Given the description of an element on the screen output the (x, y) to click on. 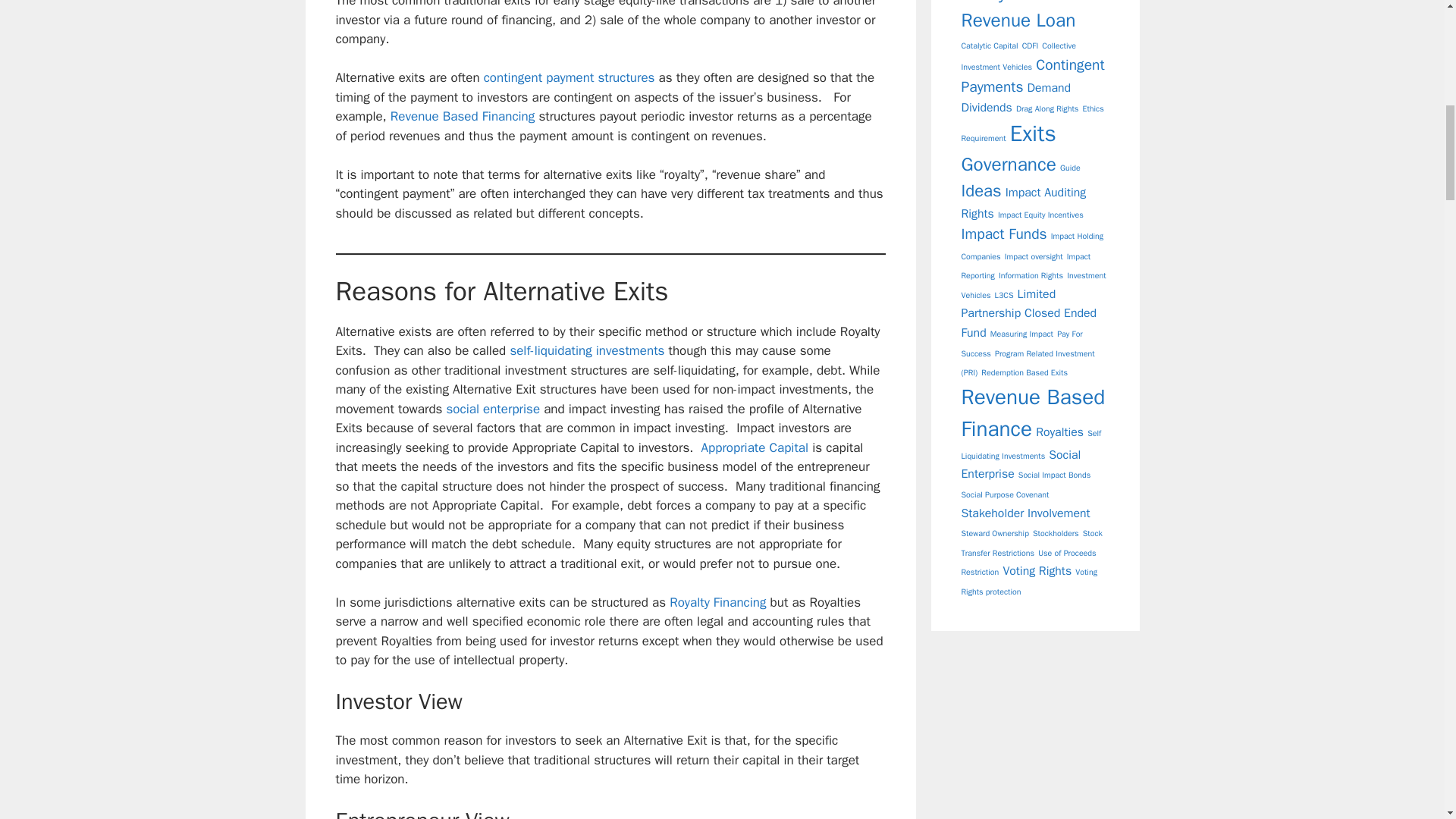
self-liquidating investments (586, 350)
Appropriate Capital (755, 447)
social enterprise (491, 408)
Revenue Based Financing (462, 116)
contingent payment structures (569, 77)
Royalty Financing (717, 602)
